Given the description of an element on the screen output the (x, y) to click on. 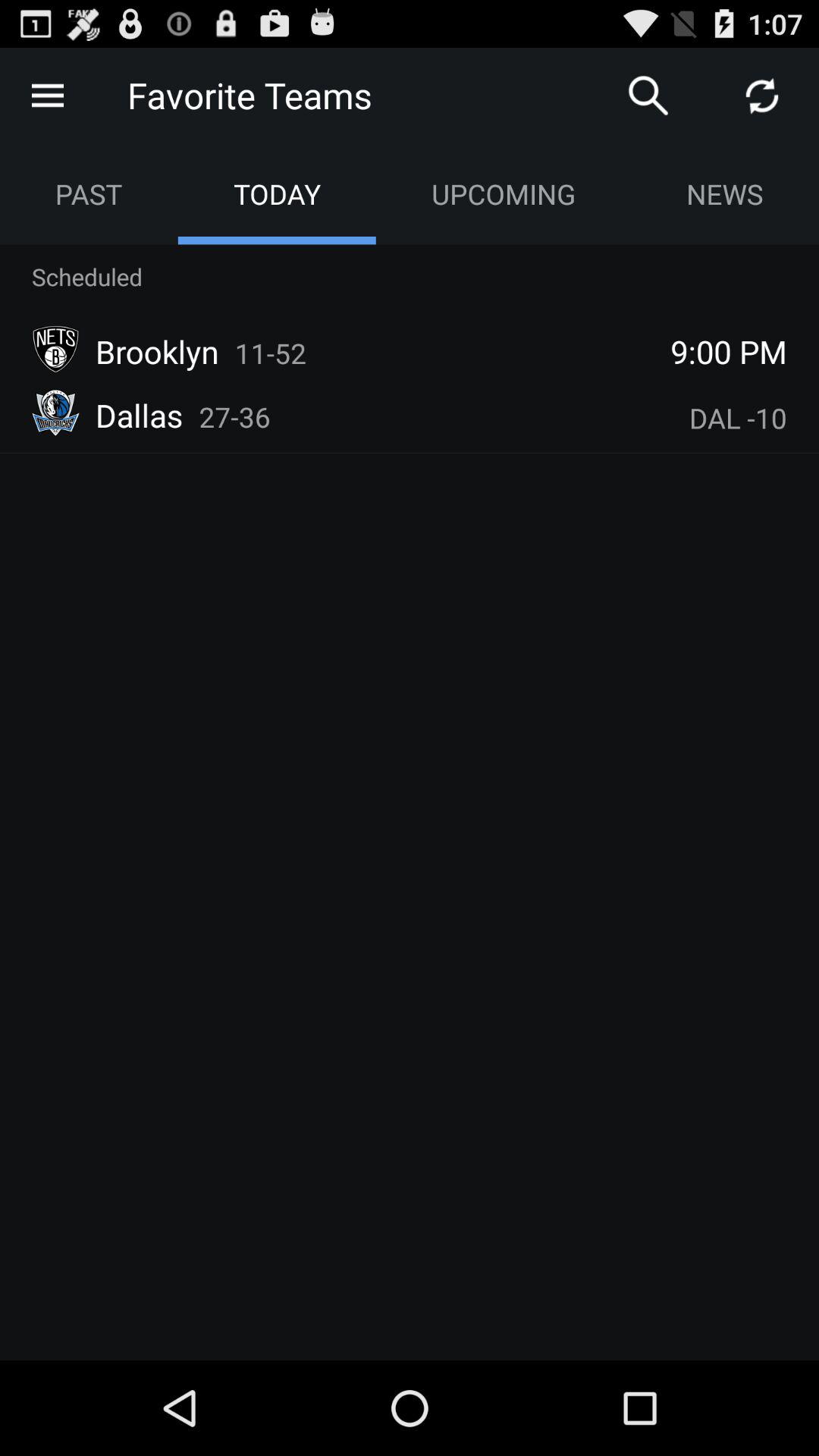
click item to the left of 11-52 (156, 351)
